Given the description of an element on the screen output the (x, y) to click on. 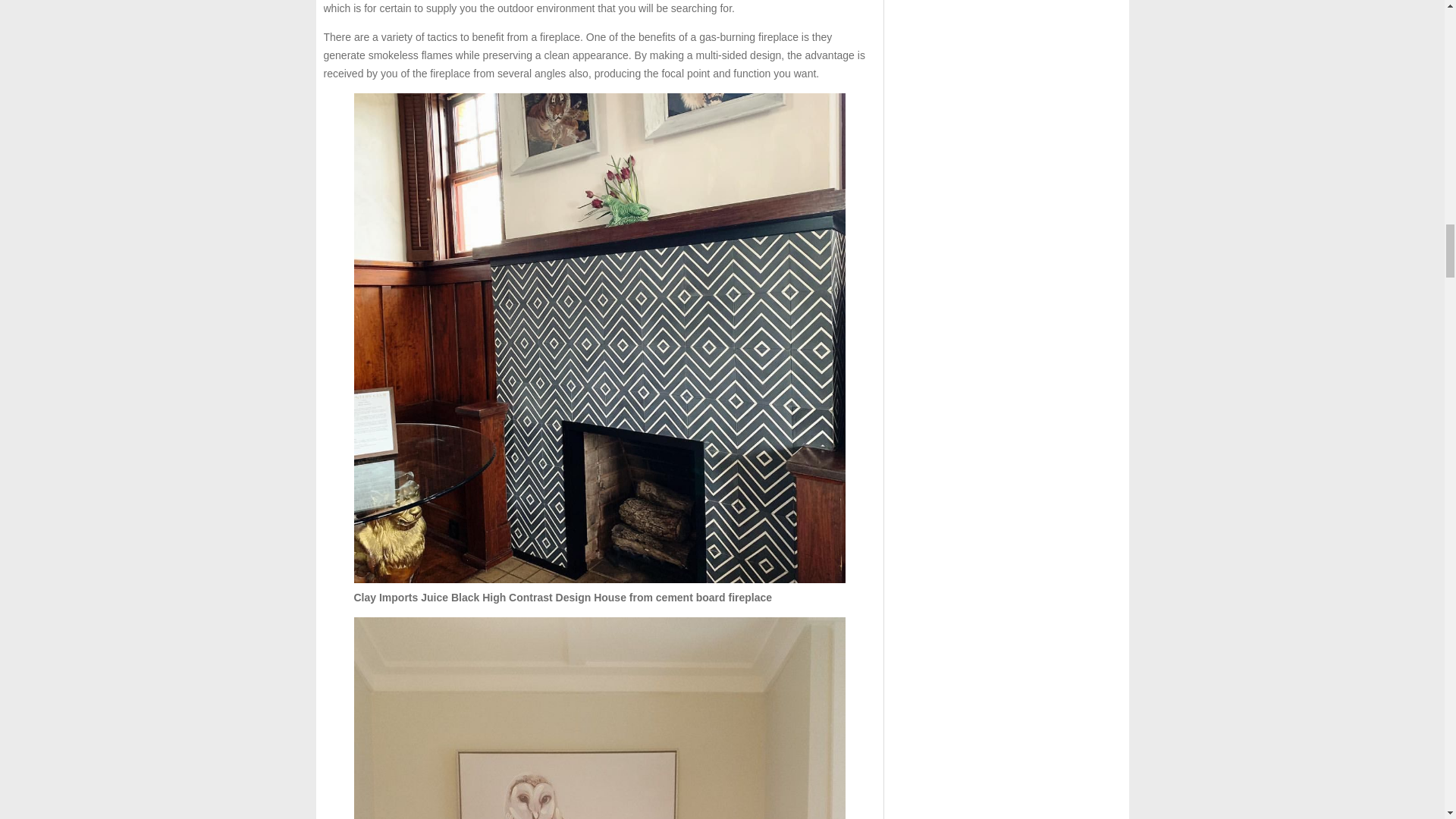
Bedroom fireplace restoration (598, 718)
